Given the description of an element on the screen output the (x, y) to click on. 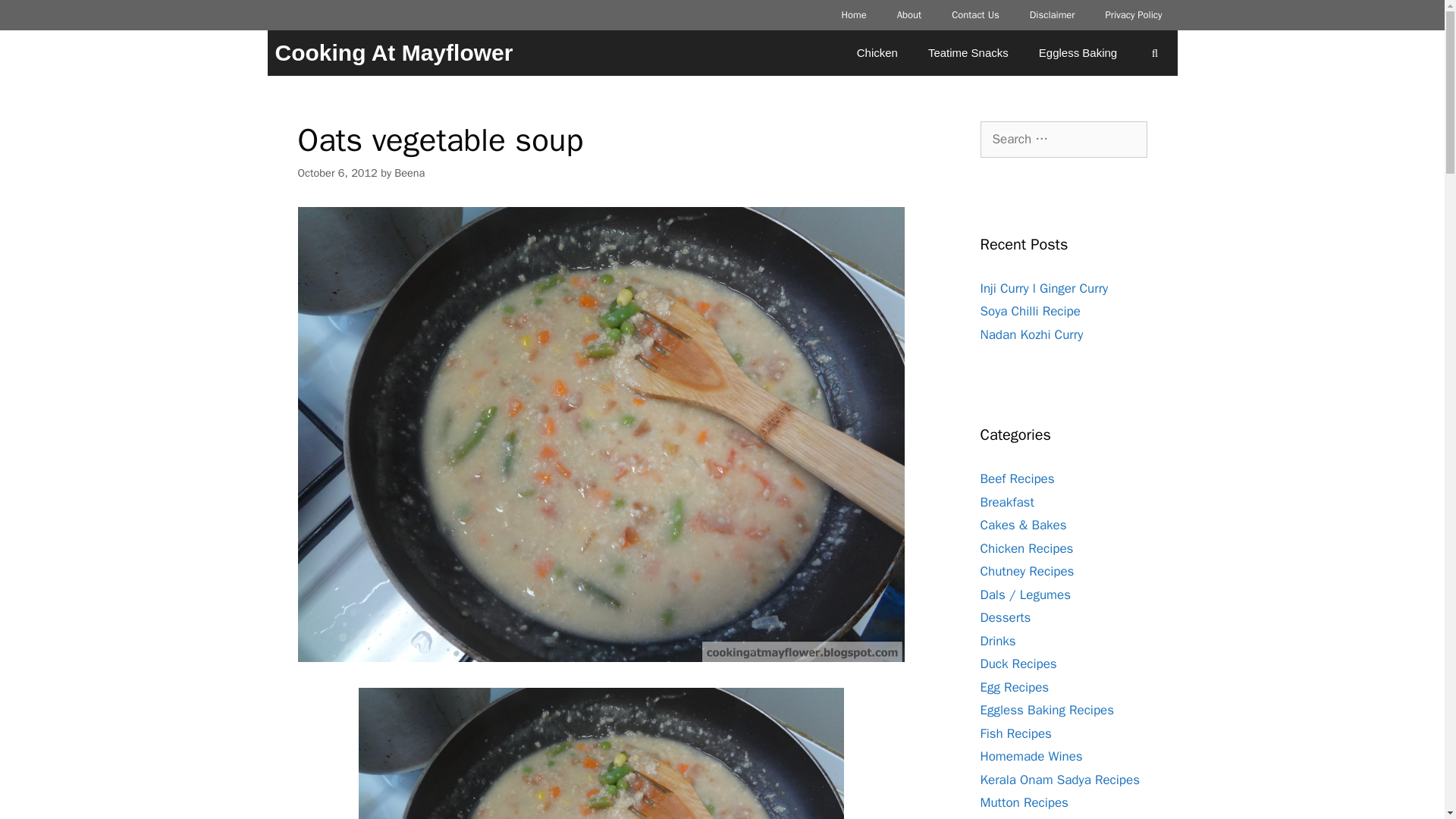
About (909, 15)
Privacy Policy (1132, 15)
Breakfast (1006, 502)
Search for: (1063, 139)
Disclaimer (1052, 15)
Drinks (996, 640)
Nadan Kozhi Curry (1031, 333)
Eggless Baking (1077, 53)
Desserts (1004, 617)
Inji Curry l Ginger Curry (1043, 288)
